Given the description of an element on the screen output the (x, y) to click on. 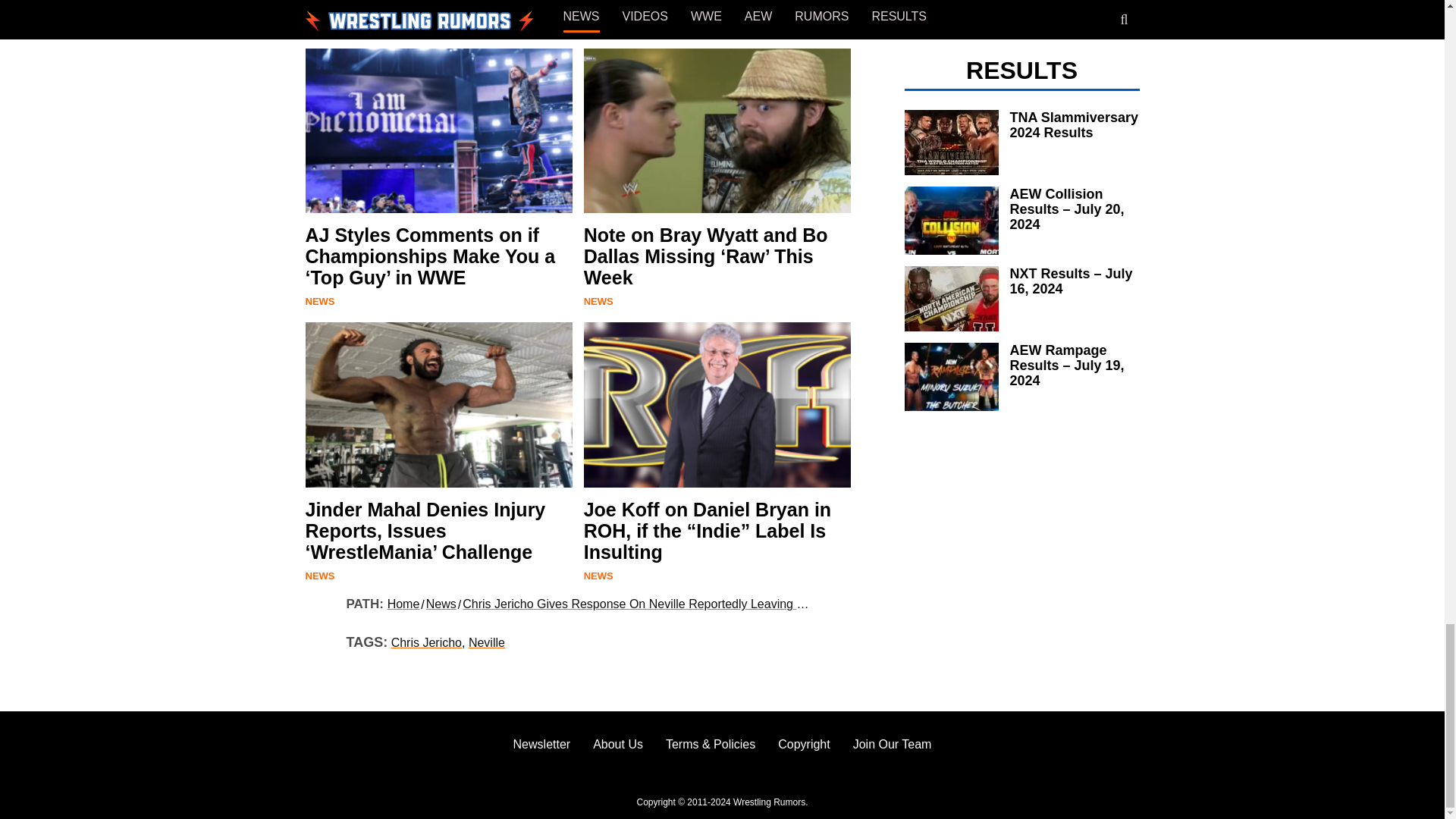
News (597, 575)
News (597, 301)
News (597, 27)
News (319, 301)
News (319, 575)
News (319, 27)
